Given the description of an element on the screen output the (x, y) to click on. 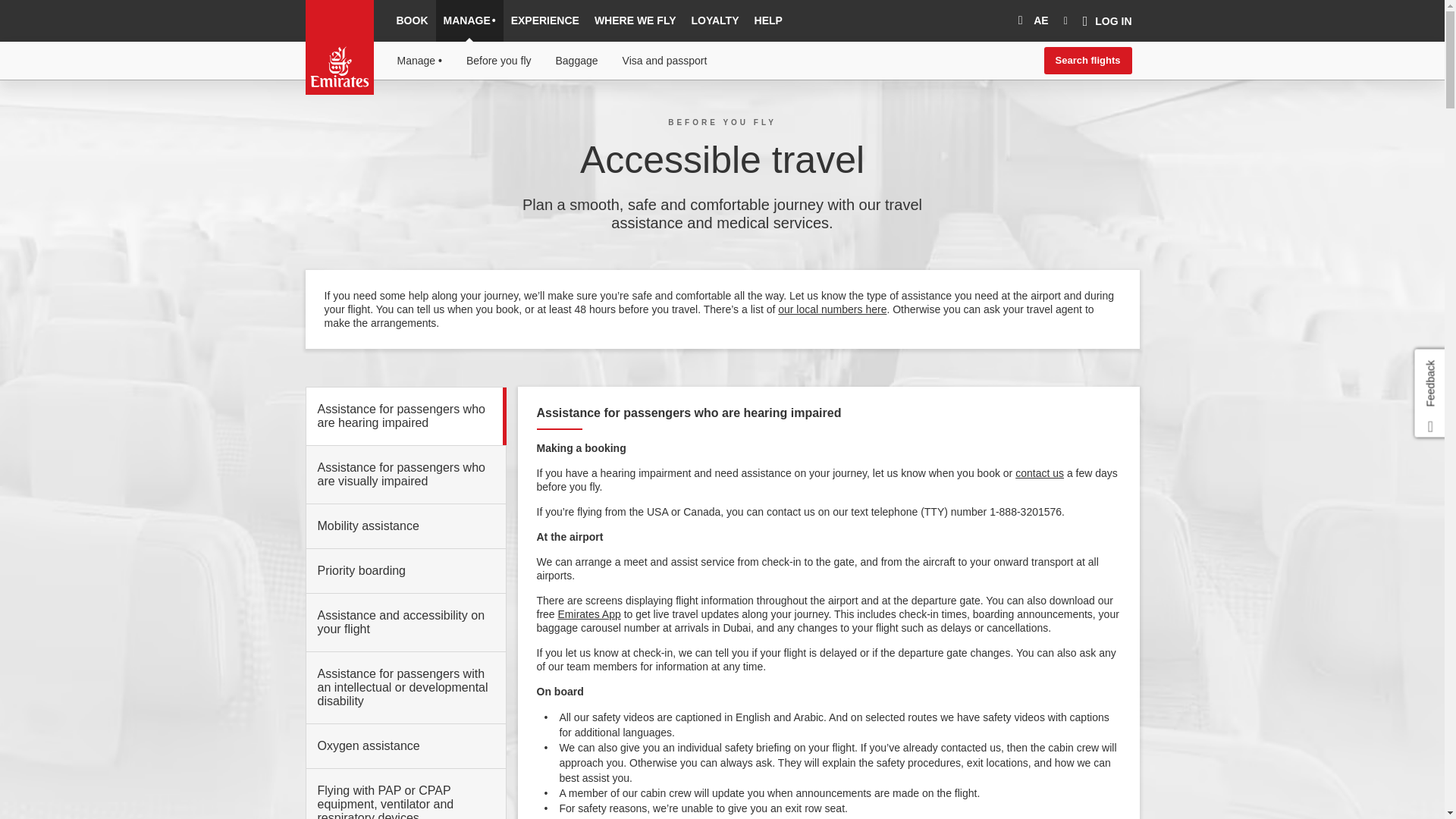
Local Emirates offices (1039, 472)
Accessibility information (383, 116)
LOG IN (1107, 20)
EXPERIENCE (544, 20)
SEARCH (1066, 20)
Skip to the main content (382, 116)
BOOK (411, 20)
HELP (768, 20)
WHERE WE FLY (635, 20)
Search flights (1087, 60)
Local Emirates offices (831, 309)
AE (1029, 20)
LOYALTY (715, 20)
